Given the description of an element on the screen output the (x, y) to click on. 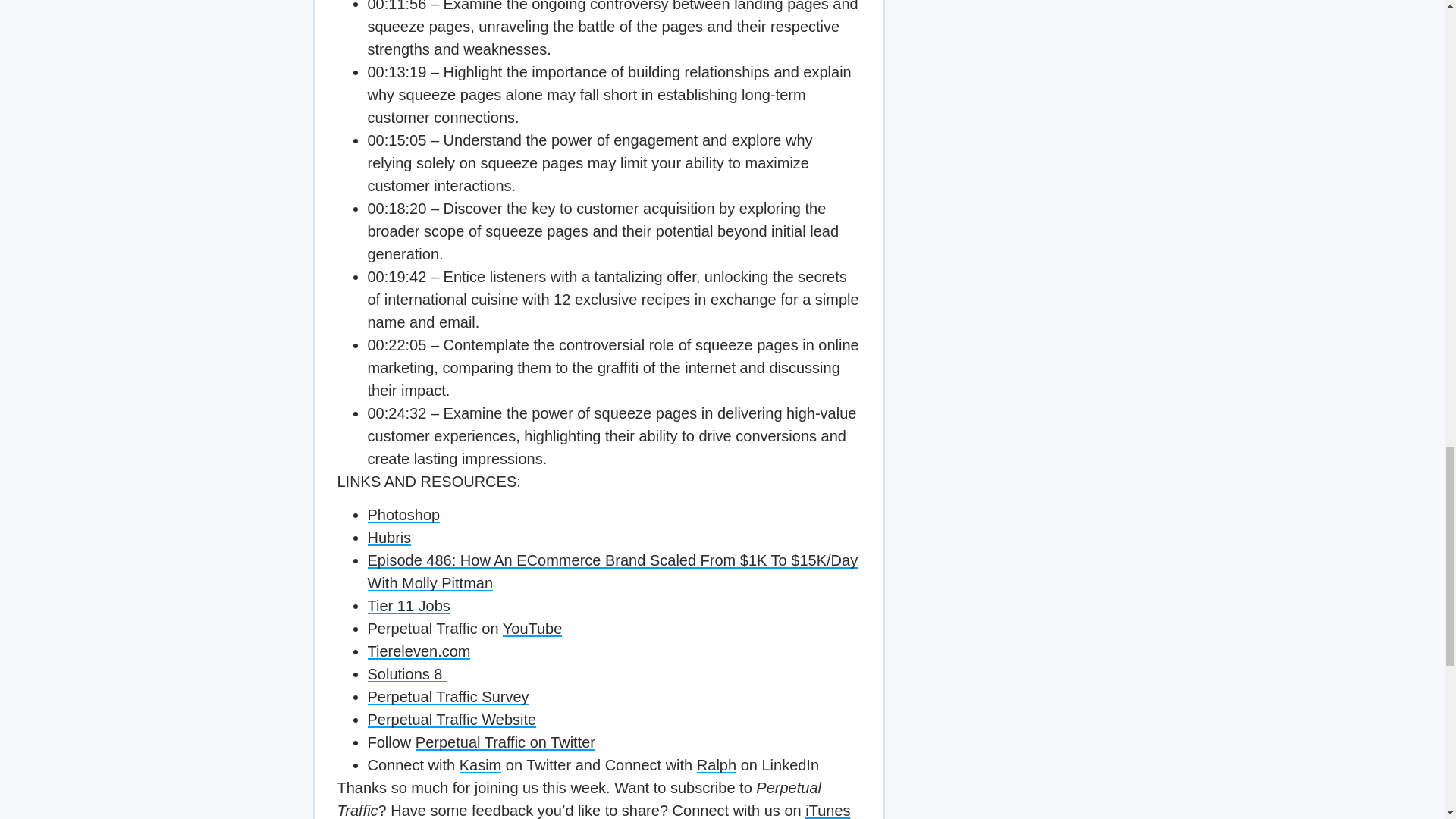
Tier 11 Jobs (407, 605)
Perpetual Traffic on Twitter (504, 742)
Kasim (481, 764)
Perpetual Traffic Website (450, 719)
YouTube (532, 628)
Ralph (716, 764)
Perpetual Traffic Survey (447, 696)
Tiereleven.com (418, 651)
Hubris (388, 537)
Photoshop (402, 514)
